Given the description of an element on the screen output the (x, y) to click on. 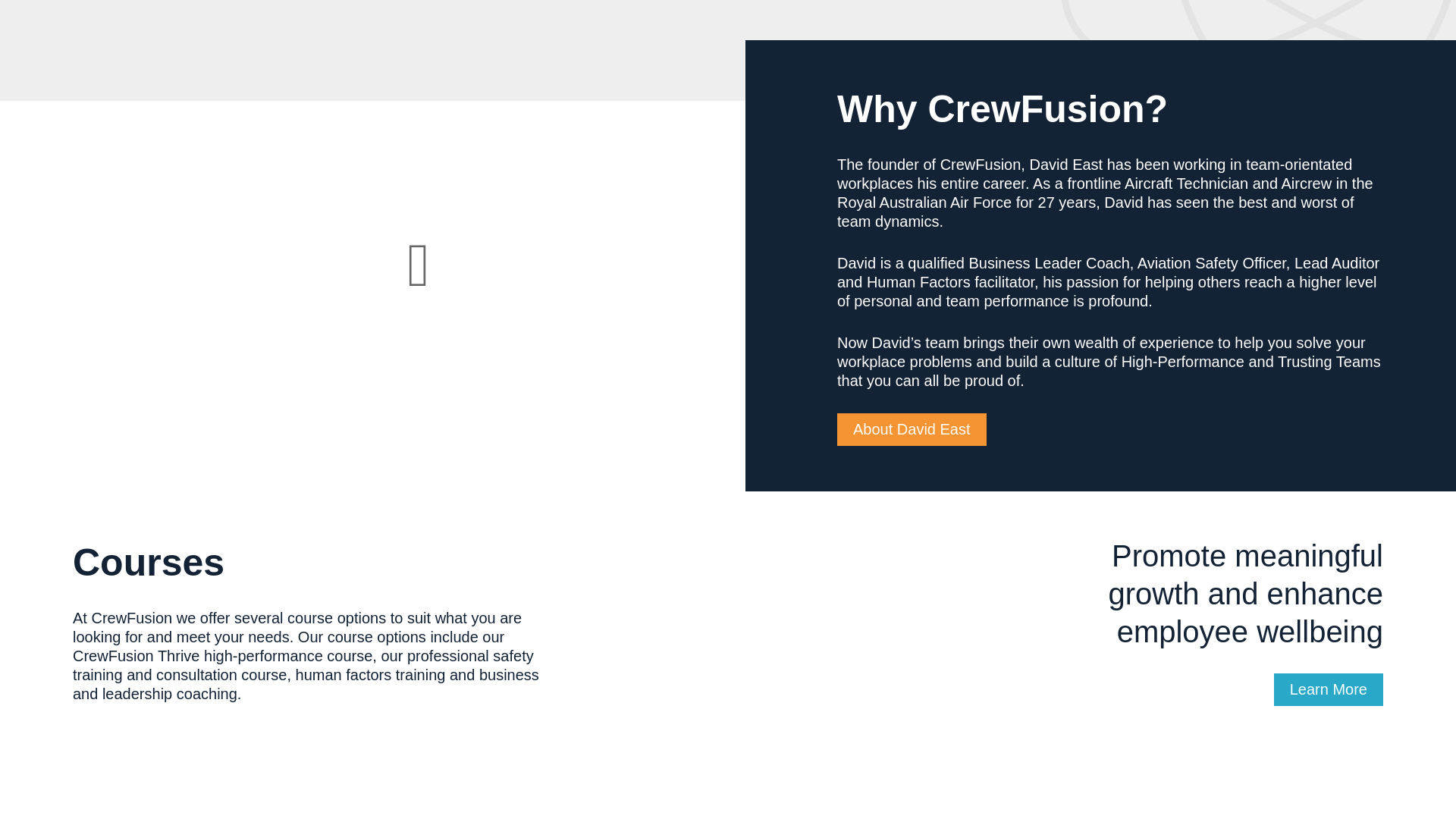
Human Factors Training (560, 777)
